Given the description of an element on the screen output the (x, y) to click on. 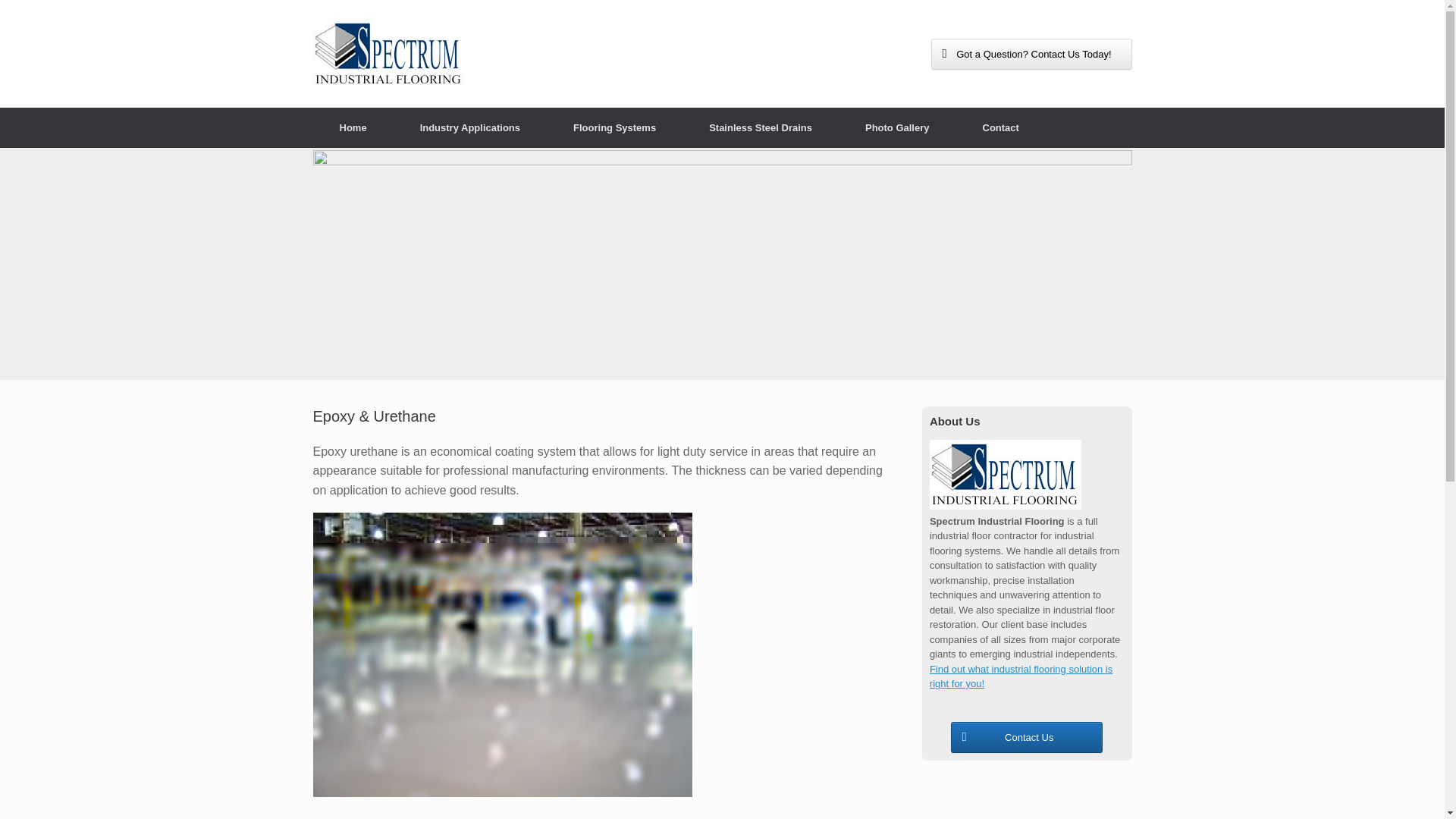
Contact Us (1026, 736)
Industry Applications (470, 127)
Contact (1000, 127)
Find out what industrial flooring solution is right for you! (1021, 676)
Photo Gallery (897, 127)
Spectrum Industrial Floors (388, 53)
Home (353, 127)
Flooring Systems (614, 127)
Got a Question? Contact Us Today! (1031, 52)
Stainless Steel Drains (760, 127)
